Given the description of an element on the screen output the (x, y) to click on. 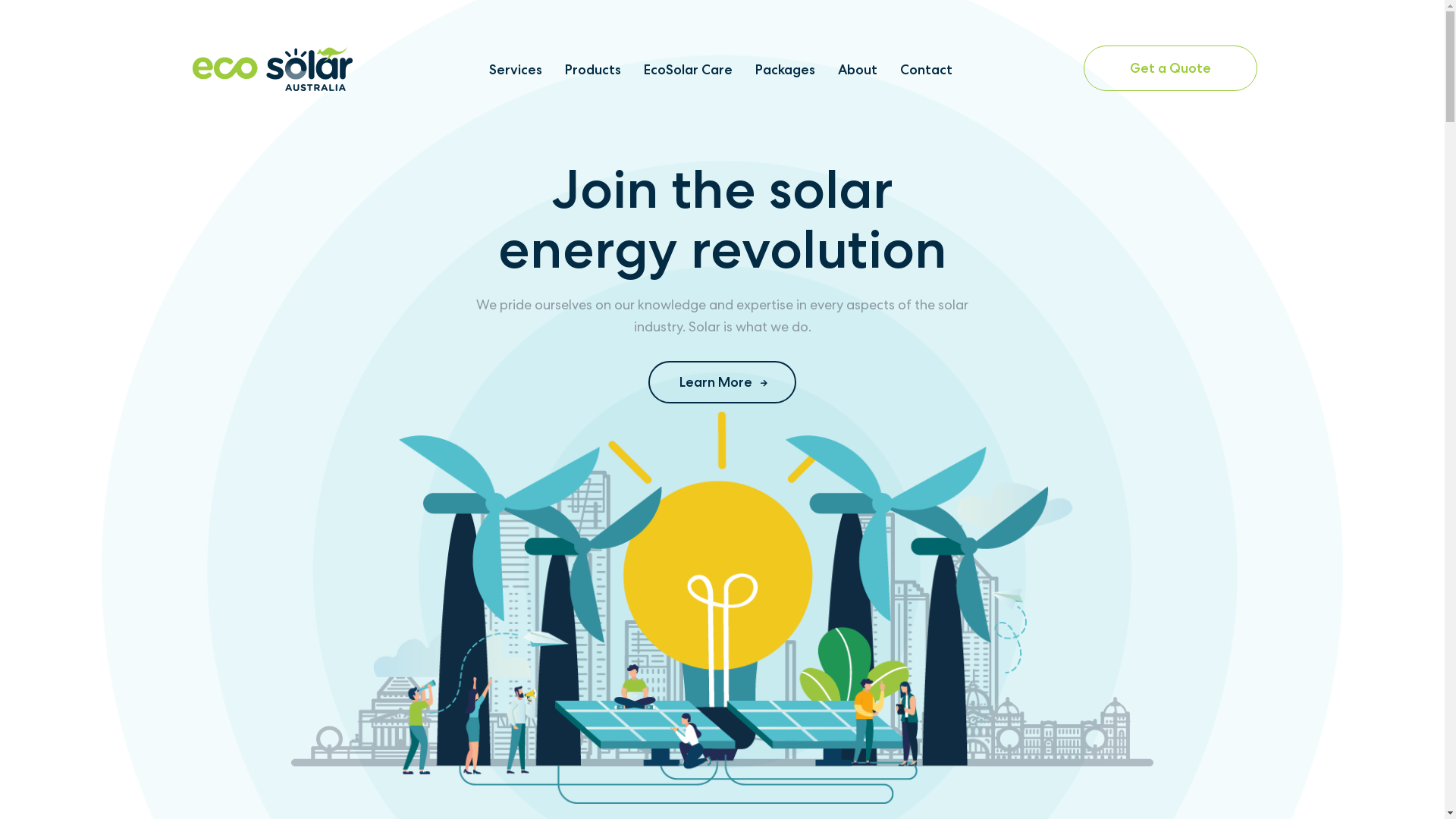
Products Element type: text (592, 68)
Contact Element type: text (926, 68)
Packages Element type: text (785, 68)
Services Element type: text (515, 68)
Eco Solar Australia Element type: hover (273, 66)
About Element type: text (857, 68)
Get a Quote Element type: text (1169, 68)
Learn More Element type: text (722, 381)
EcoSolar Care Element type: text (687, 68)
